Given the description of an element on the screen output the (x, y) to click on. 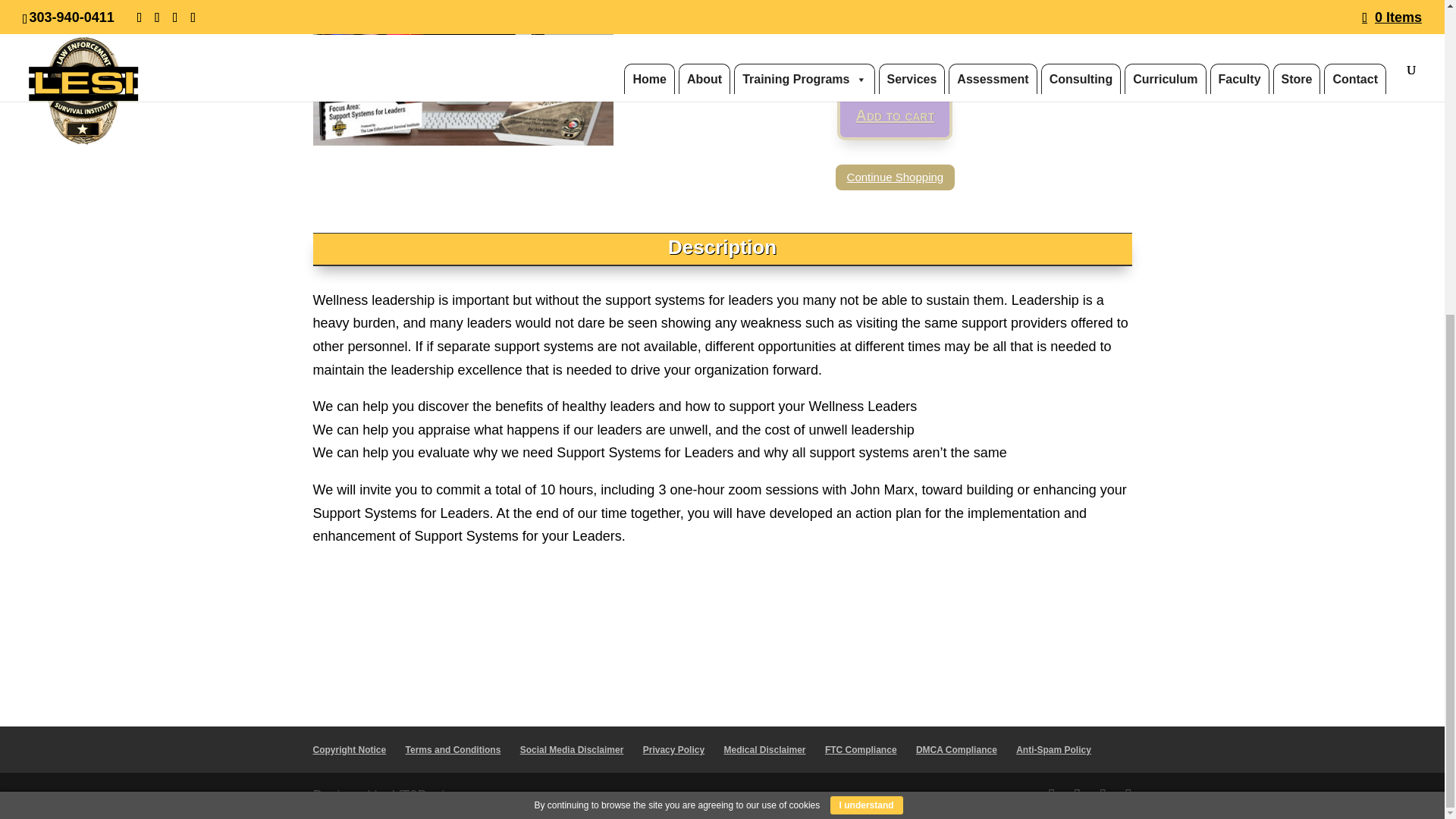
Add to cart (894, 114)
Continue Shopping (895, 177)
Terms and Conditions (453, 749)
Social Media Disclaimer (571, 749)
EmailBanner600x100b (722, 626)
Anti-Spam Policy (1053, 749)
Copyright Notice (349, 749)
FTC Compliance (860, 749)
Privacy Policy (673, 749)
Click Here to download the PDF Information Sheet (821, 9)
WFP-Pack-SupportSystemsForLeaders400.jpg (462, 72)
DMCA Compliance (956, 749)
Medical Disclaimer (764, 749)
